Given the description of an element on the screen output the (x, y) to click on. 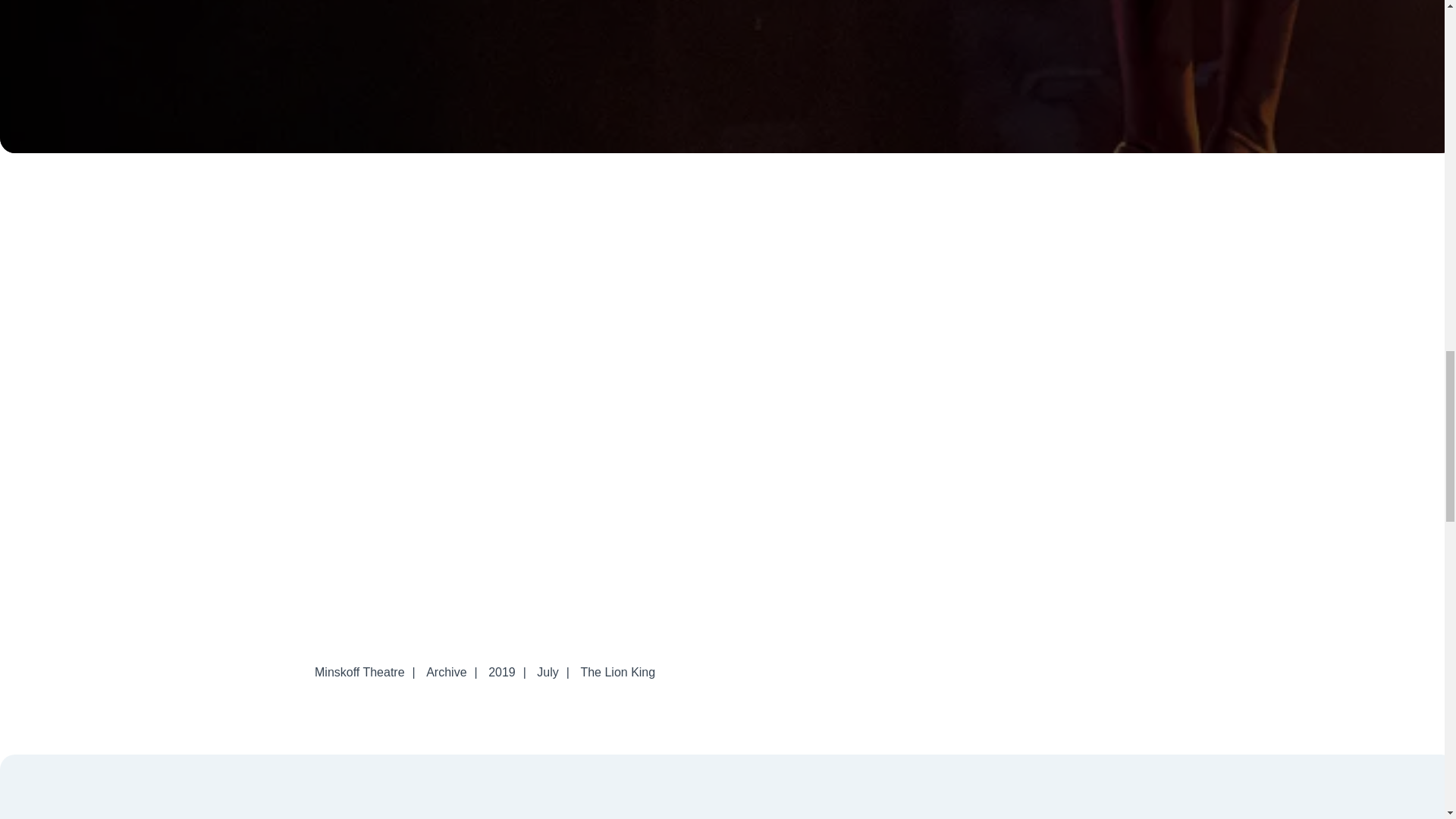
Archive (446, 671)
2019 (501, 671)
July (547, 671)
Minskoff Theatre (359, 671)
